Given the description of an element on the screen output the (x, y) to click on. 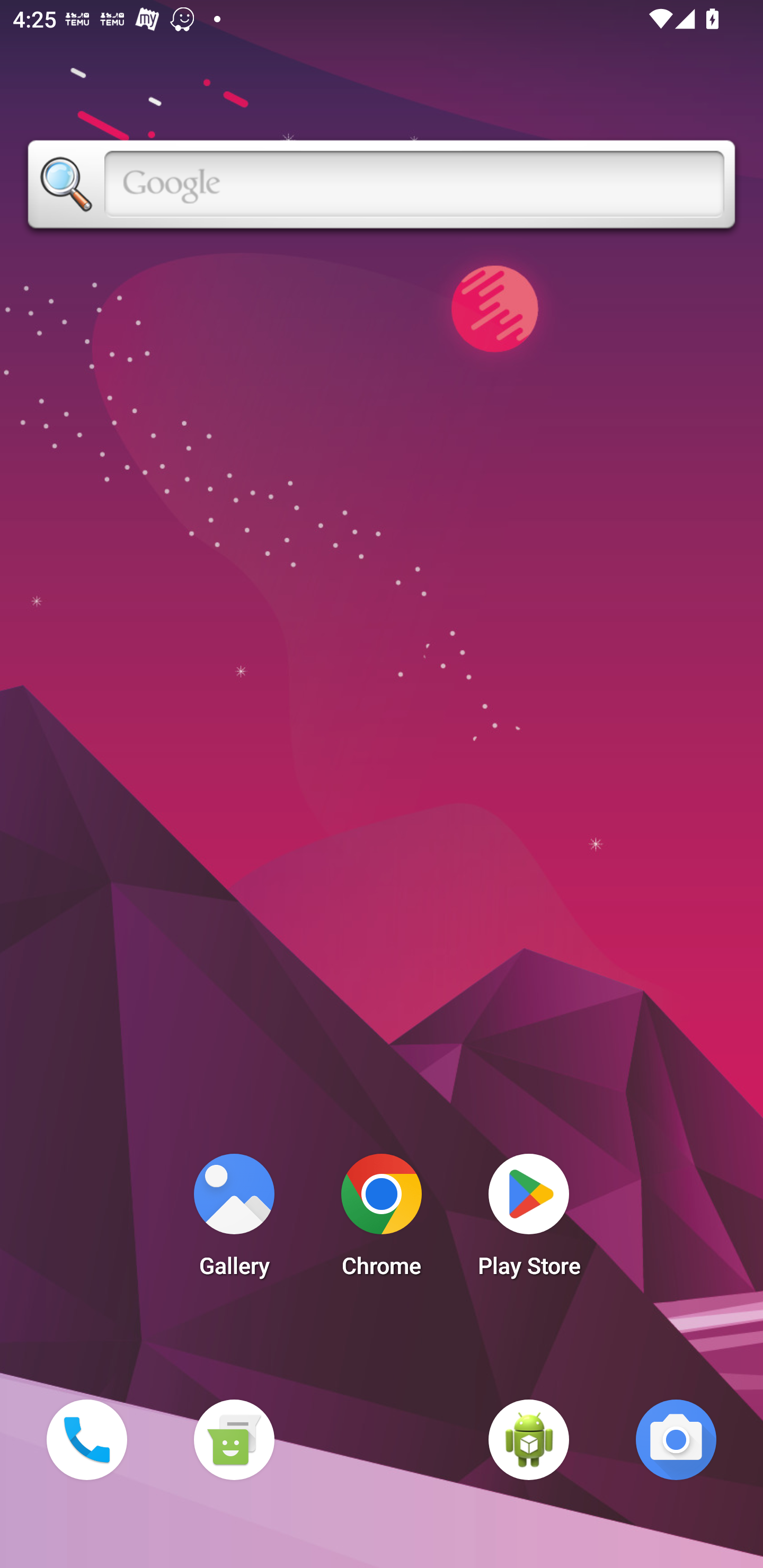
Gallery (233, 1220)
Chrome (381, 1220)
Play Store (528, 1220)
Phone (86, 1439)
Messaging (233, 1439)
WebView Browser Tester (528, 1439)
Camera (676, 1439)
